Given the description of an element on the screen output the (x, y) to click on. 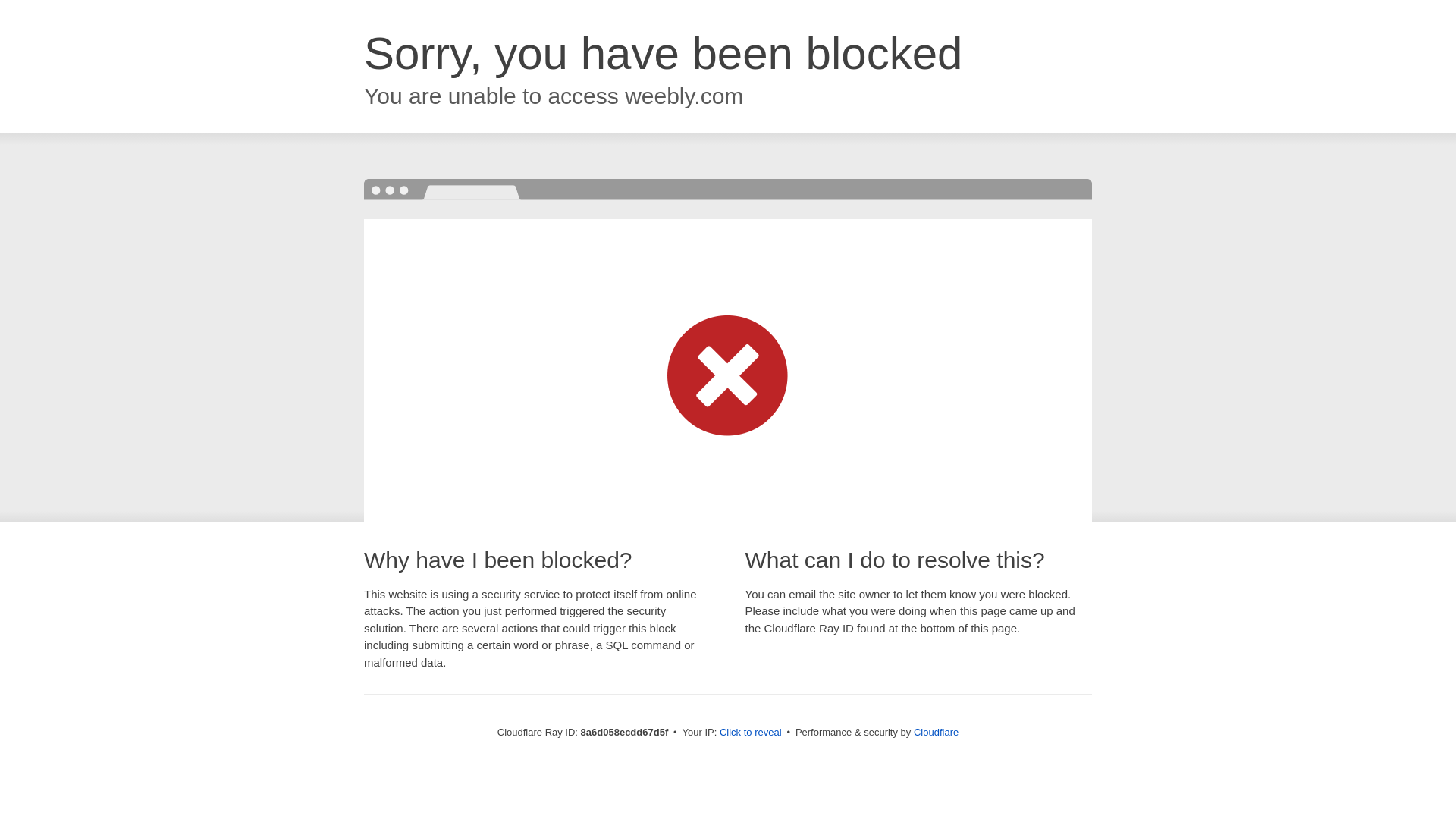
Click to reveal (750, 732)
Cloudflare (936, 731)
